Given the description of an element on the screen output the (x, y) to click on. 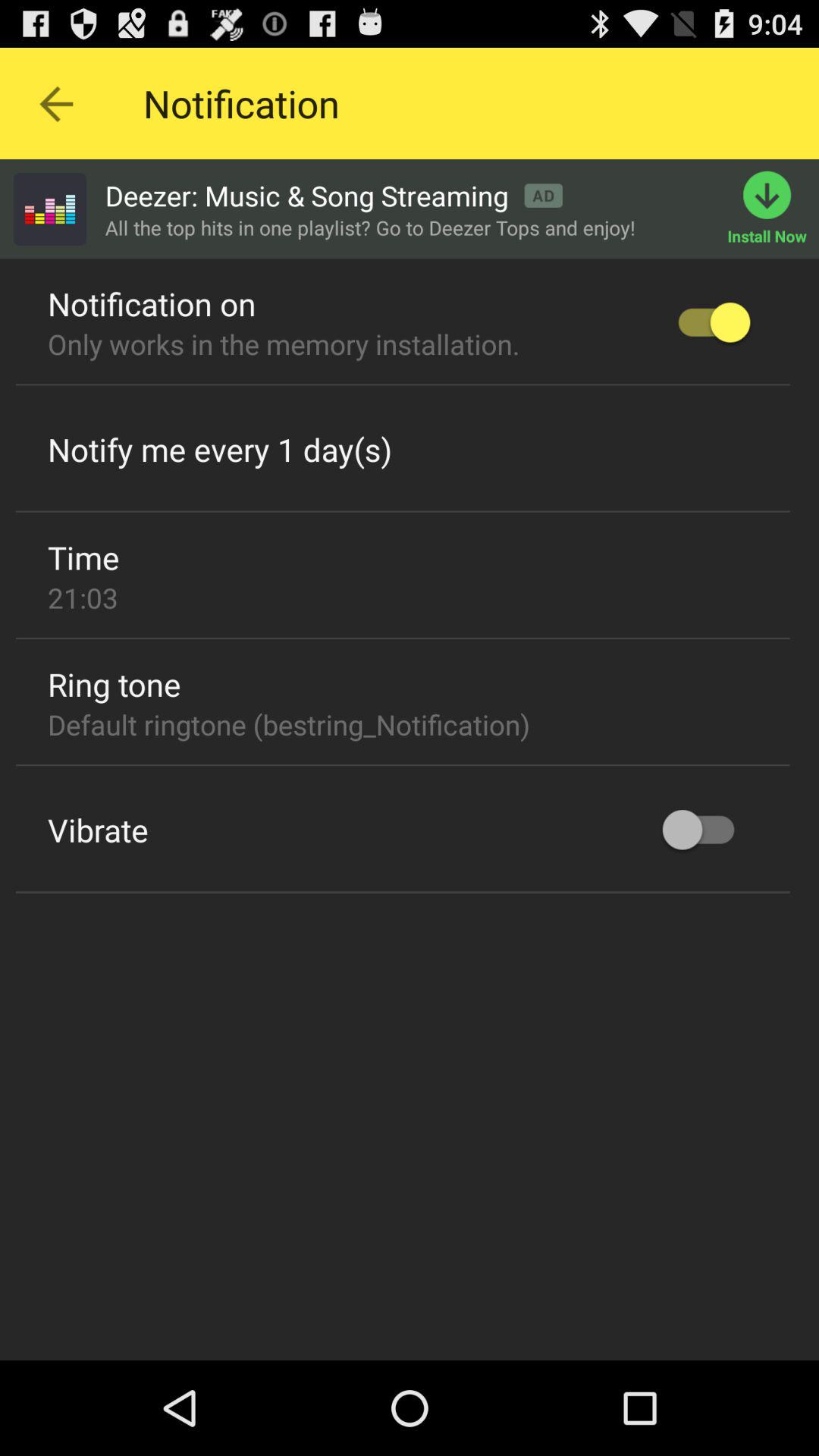
swipe to default ringtone (bestring_notification) item (288, 724)
